Given the description of an element on the screen output the (x, y) to click on. 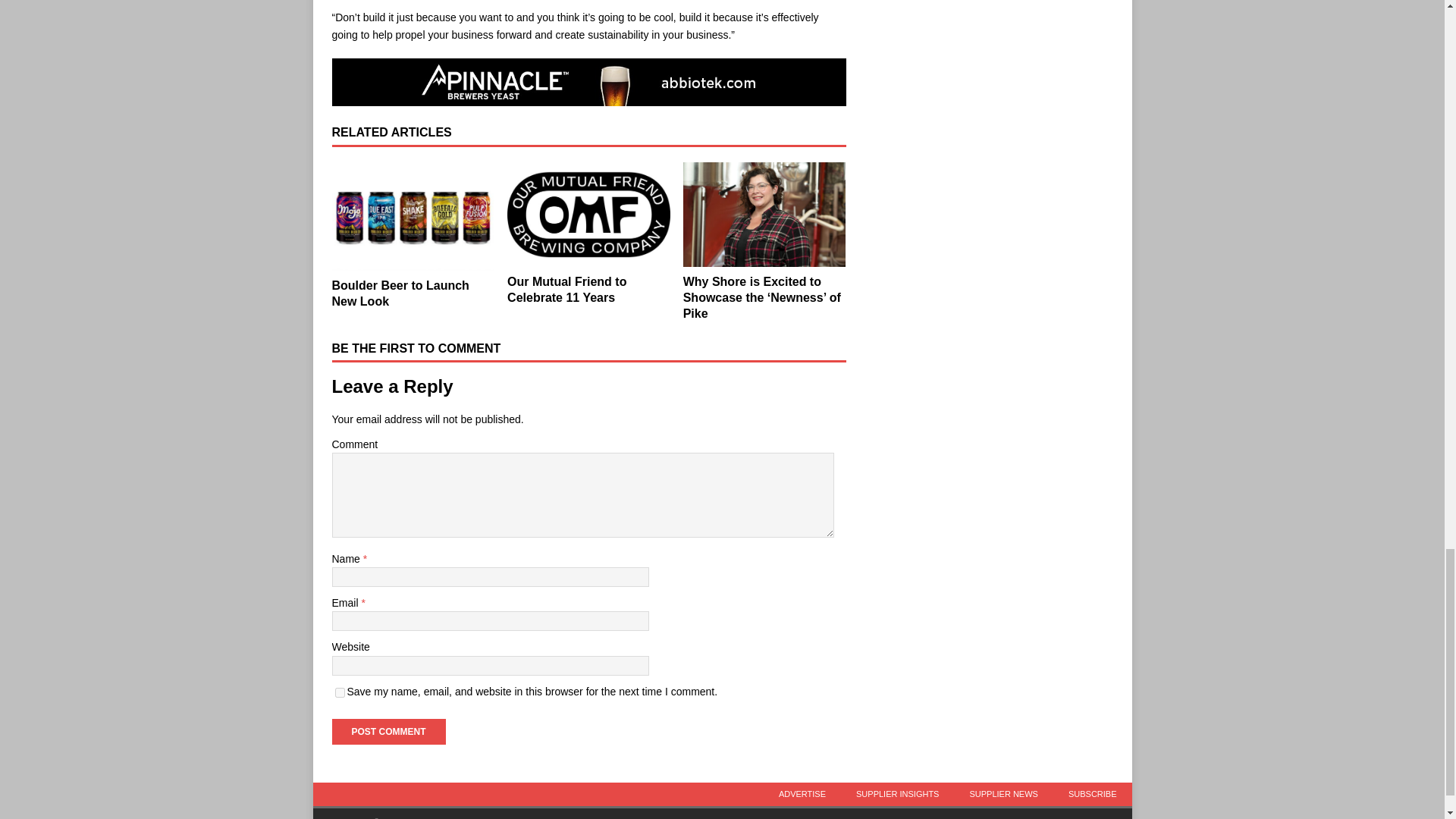
Boulder Beer to Launch New Look (399, 293)
Our Mutual Friend to Celebrate 11 Years (566, 289)
Our Mutual Friend to Celebrate 11 Years (566, 289)
yes (339, 692)
Boulder Beer to Launch New Look (399, 293)
Boulder Beer to Launch New Look (413, 216)
Our Mutual Friend to Celebrate 11 Years (587, 214)
Post Comment (388, 731)
